Given the description of an element on the screen output the (x, y) to click on. 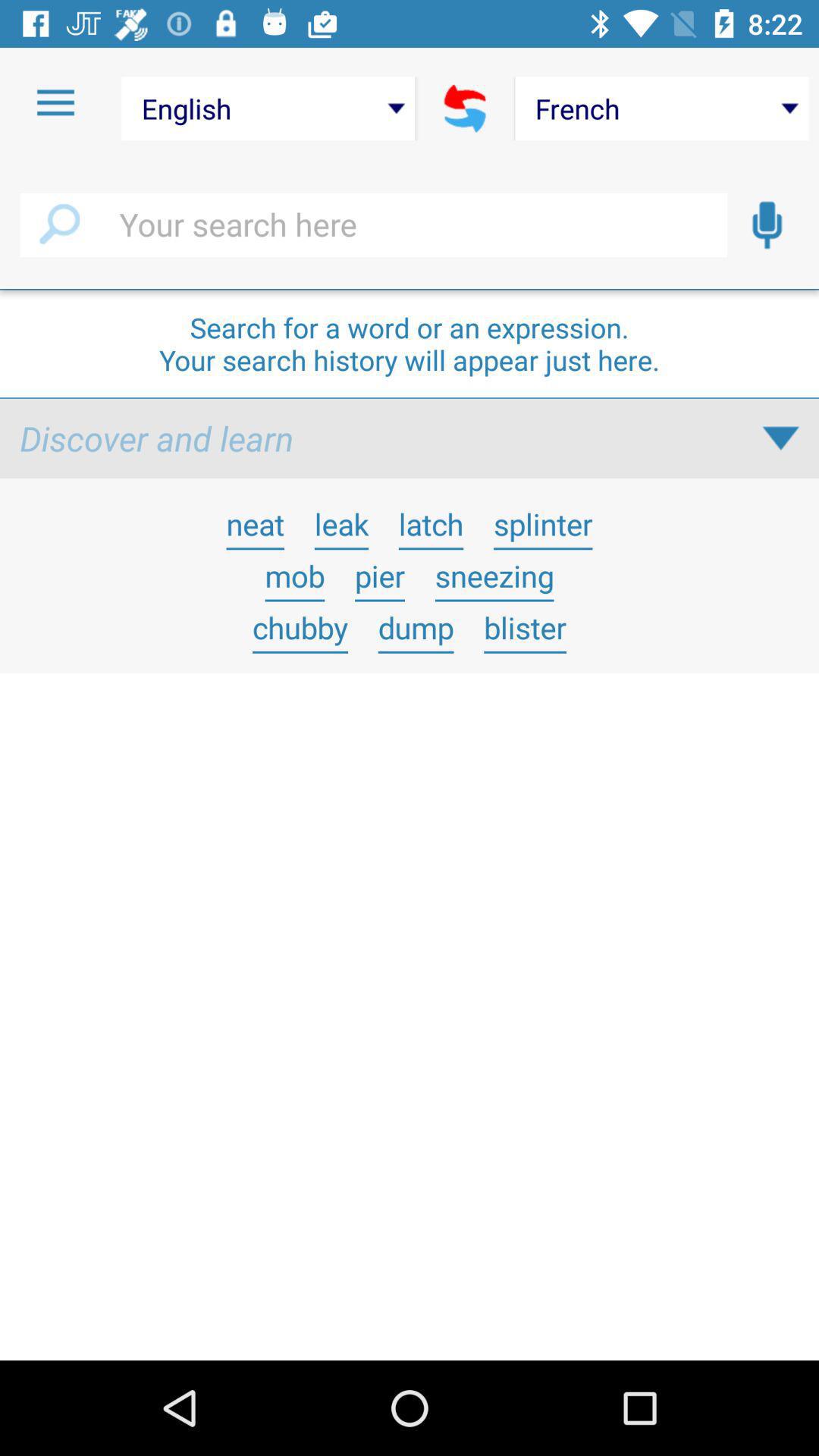
open the item to the left of the english item (55, 103)
